Given the description of an element on the screen output the (x, y) to click on. 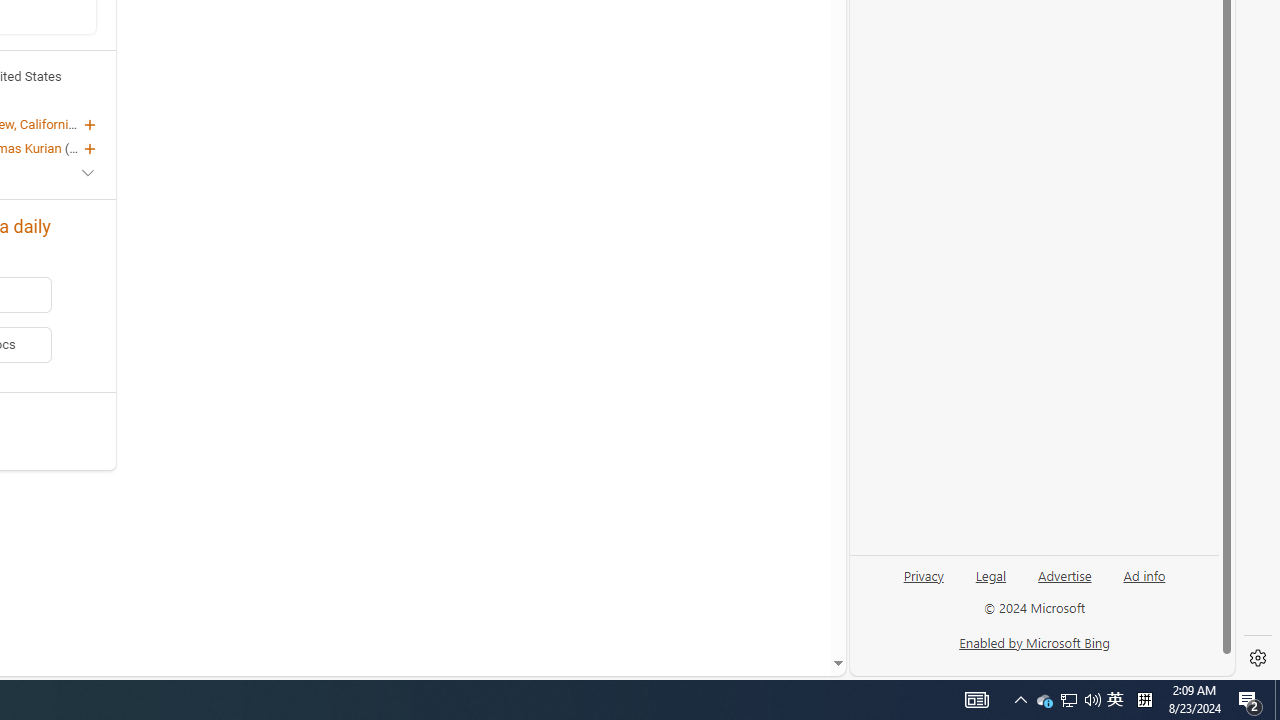
Privacy (923, 583)
Search more (792, 604)
Legal (990, 583)
CEO (81, 147)
AutomationID: mfa_root (762, 603)
Ad info (1144, 574)
Advertise (1064, 574)
Ad info (1144, 583)
Legal (991, 574)
Privacy (923, 574)
Advertise (1064, 583)
